Given the description of an element on the screen output the (x, y) to click on. 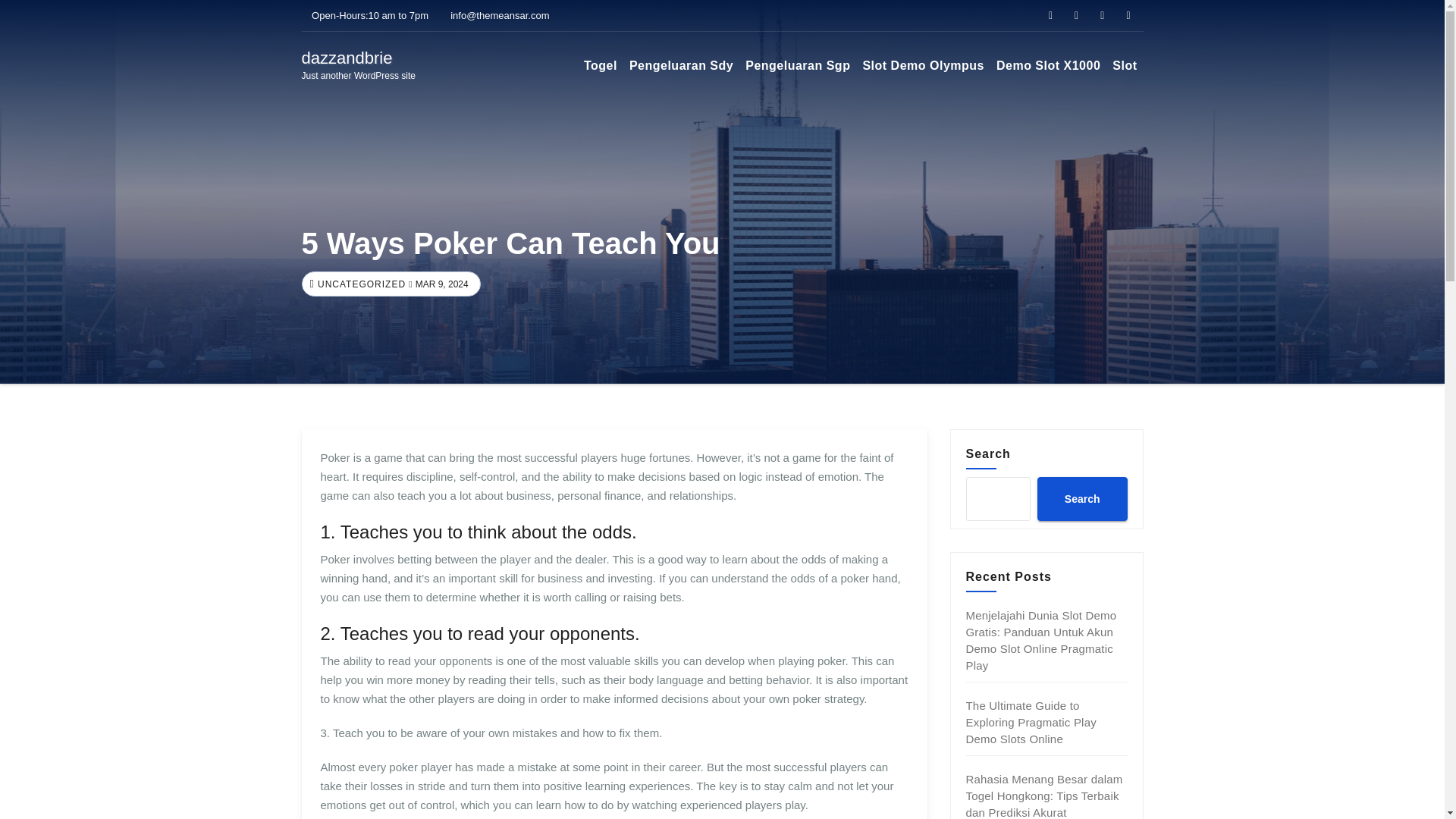
Open-Hours:10 am to 7pm (365, 15)
slot demo olympus (923, 65)
Demo Slot X1000 (1048, 65)
demo slot x1000 (1048, 65)
Search (1081, 498)
Pengeluaran Sdy (358, 65)
UNCATEGORIZED (681, 65)
pengeluaran sgp (360, 284)
Pengeluaran Sgp (797, 65)
pengeluaran sdy (797, 65)
Slot Demo Olympus (681, 65)
